Given the description of an element on the screen output the (x, y) to click on. 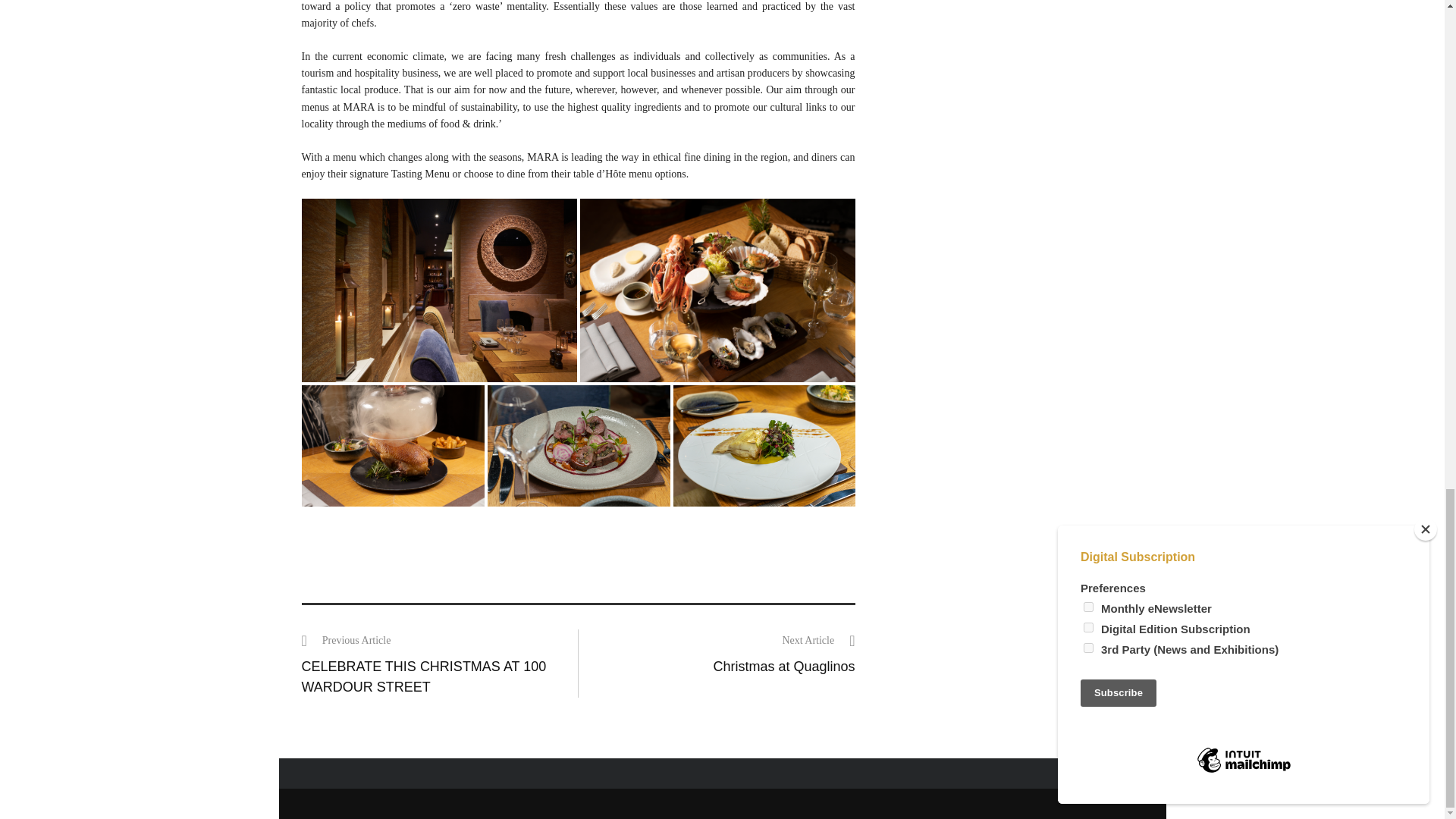
Christmas at Quaglinos (783, 666)
CELEBRATE THIS CHRISTMAS AT 100 WARDOUR STREET (424, 676)
